Given the description of an element on the screen output the (x, y) to click on. 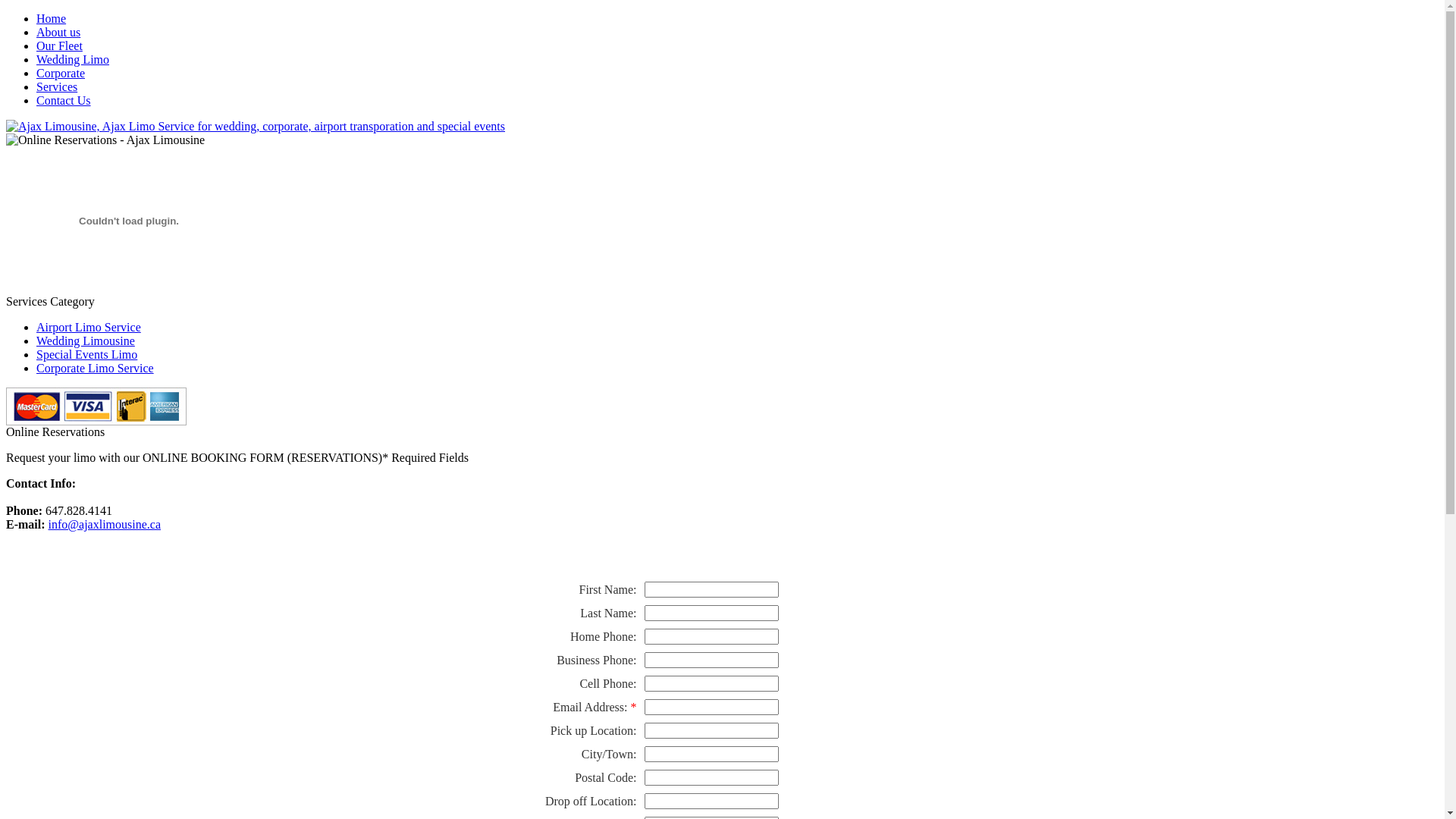
Airport Limo Service Element type: text (88, 326)
Wedding Limo Element type: text (72, 59)
info@ajaxlimousine.ca Element type: text (104, 523)
Corporate Element type: text (60, 72)
Special Events Limo Element type: text (86, 354)
Wedding Limousine Element type: text (85, 340)
Home Element type: text (50, 18)
Contact Us Element type: text (63, 100)
About us Element type: text (58, 31)
Our Fleet Element type: text (59, 45)
Corporate Limo Service Element type: text (94, 367)
Services Element type: text (56, 86)
Ajax Limousine Element type: hover (128, 290)
